Given the description of an element on the screen output the (x, y) to click on. 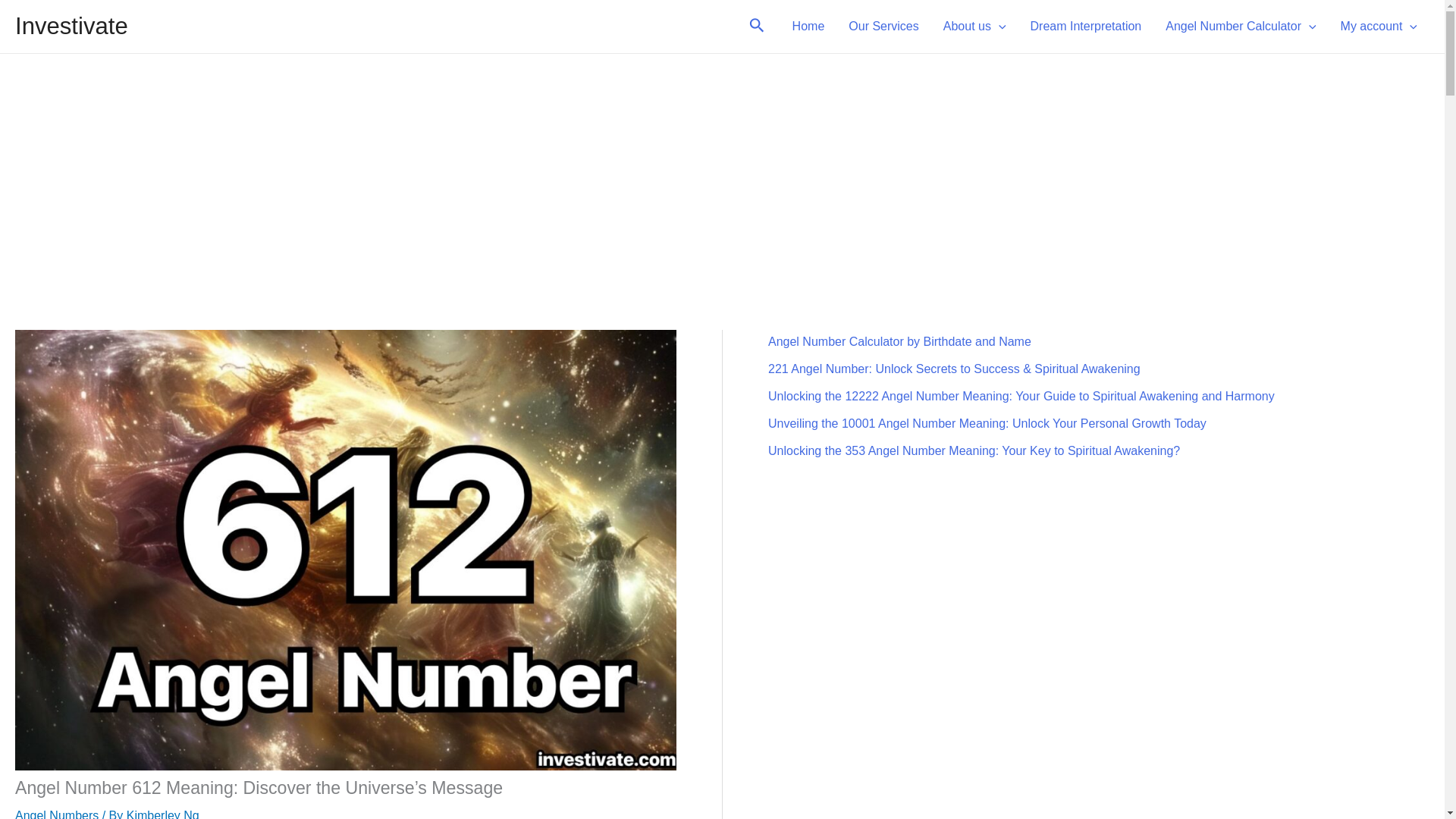
About us (974, 26)
Angel Number Calculator (1240, 26)
Dream Interpretation (1085, 26)
Kimberley Ng (162, 814)
Investivate (71, 26)
View all posts by Kimberley Ng (162, 814)
Home (808, 26)
My account (1378, 26)
Angel Numbers (56, 814)
